Given the description of an element on the screen output the (x, y) to click on. 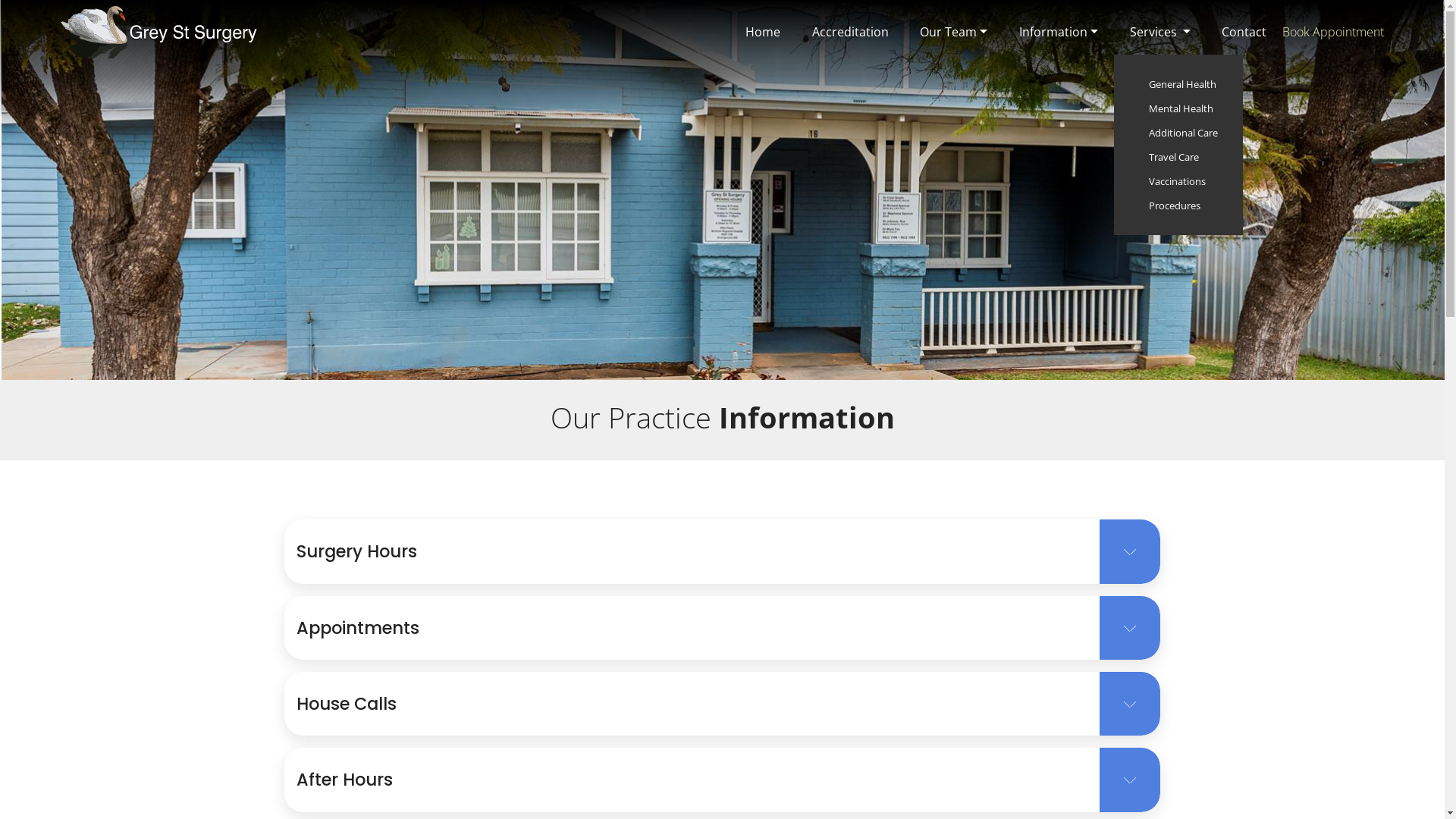
Contact Element type: text (1243, 32)
Procedures Element type: text (1177, 205)
Home Element type: text (762, 32)
Vaccinations Element type: text (1177, 181)
Travel Care Element type: text (1177, 156)
Services Element type: text (1159, 32)
House Calls Element type: text (721, 703)
Appointments Element type: text (721, 627)
Book Appointment Element type: text (1332, 31)
After Hours Element type: text (721, 779)
Our Team Element type: text (953, 32)
Additional Care Element type: text (1177, 132)
Information Element type: text (1058, 32)
Mental Health Element type: text (1177, 108)
Accreditation Element type: text (850, 32)
Surgery Hours Element type: text (721, 550)
General Health Element type: text (1177, 84)
